Given the description of an element on the screen output the (x, y) to click on. 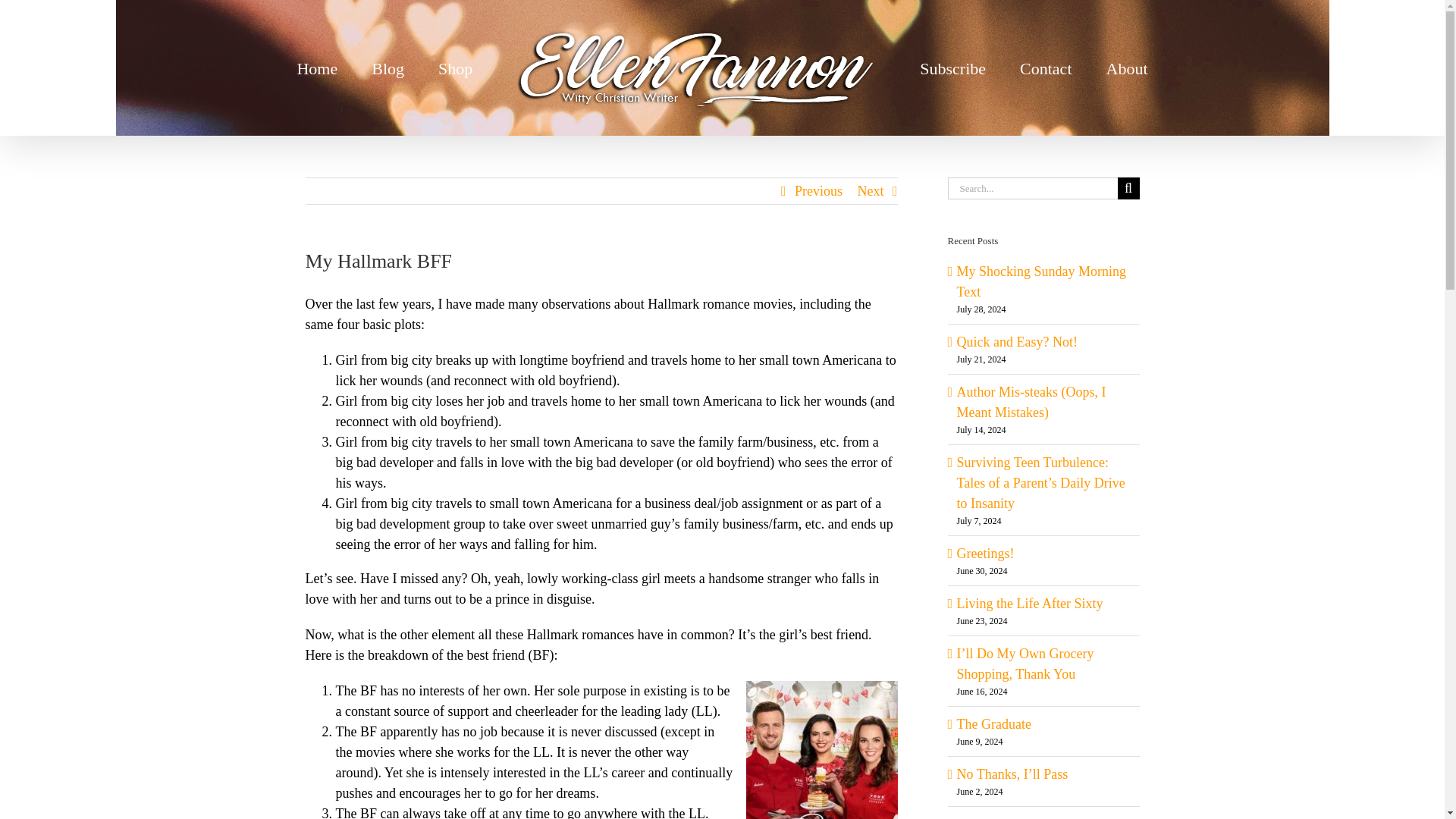
Subscribe (952, 67)
Previous (818, 190)
Next (870, 190)
